Given the description of an element on the screen output the (x, y) to click on. 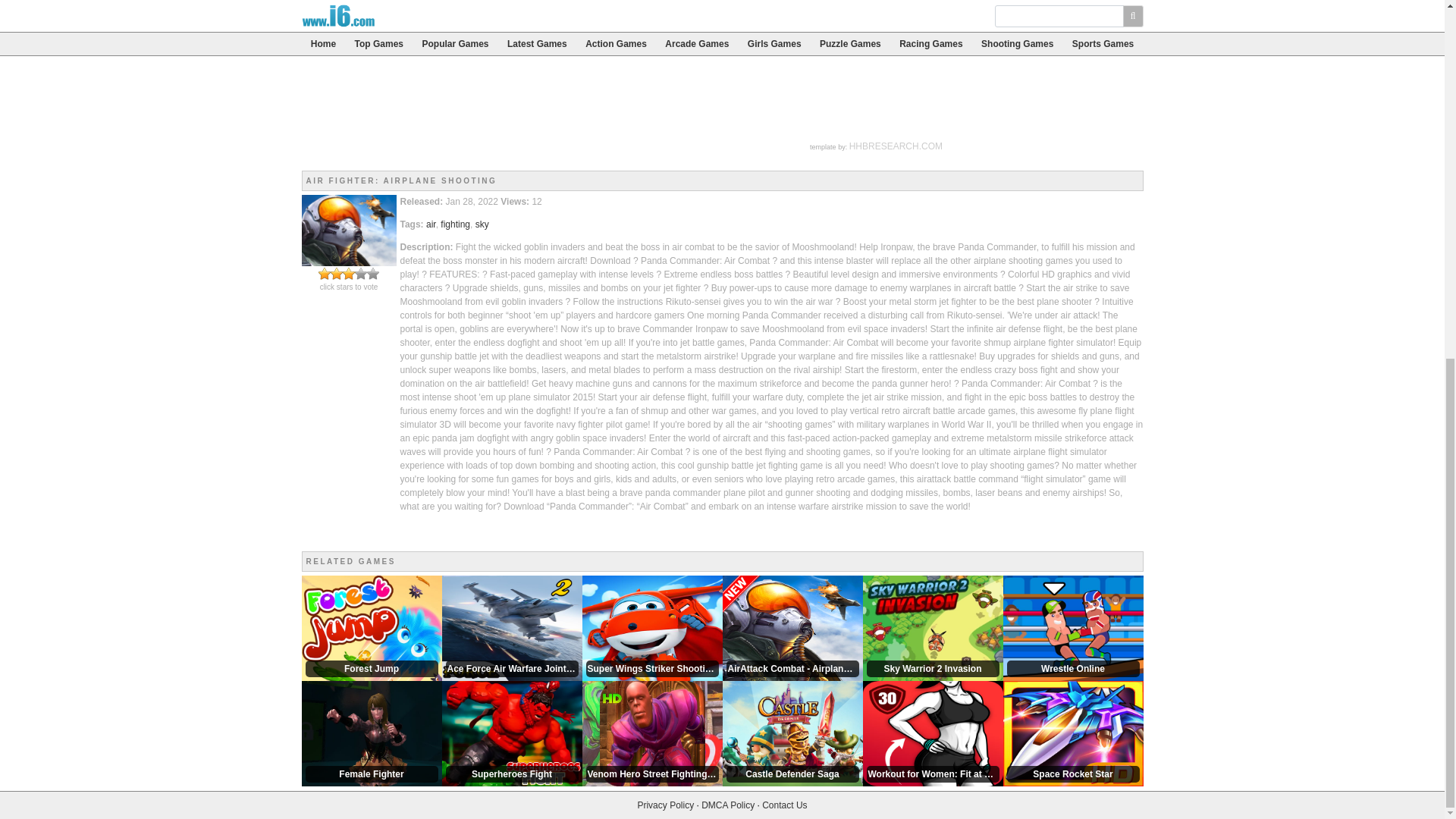
sky (482, 224)
Castle Defender Saga (791, 732)
Sky Warrior 2 Invasion (933, 627)
Forest Jump (371, 627)
4 (342, 273)
Contact Us (783, 805)
Privacy Policy (665, 805)
1 (324, 273)
air (430, 224)
5 (348, 273)
2 (330, 273)
Space Rocket Star (1072, 732)
Superheroes Fight (510, 732)
Female Fighter (371, 732)
Wrestle Online (1072, 627)
